Given the description of an element on the screen output the (x, y) to click on. 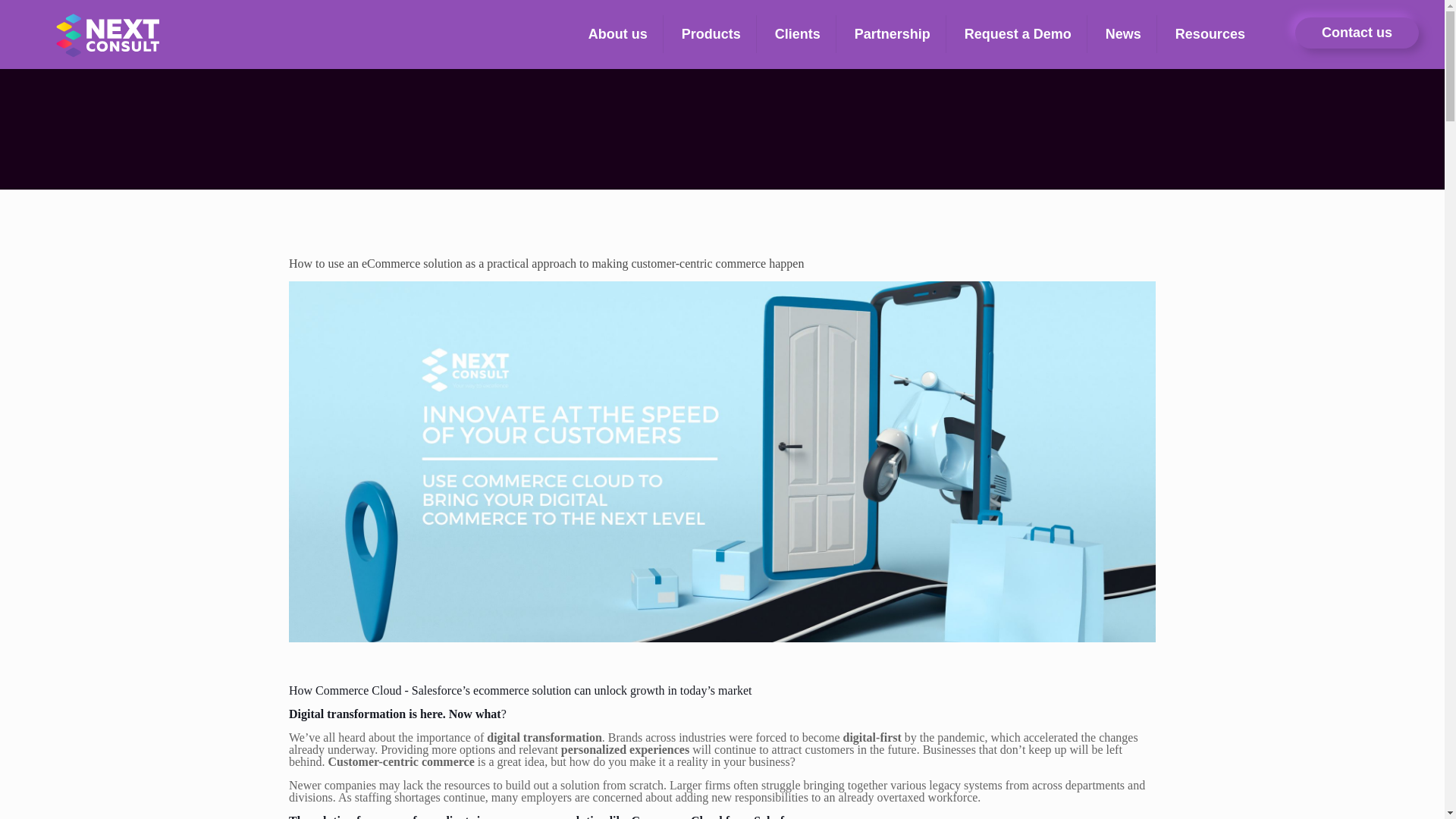
Partnership (893, 34)
Resources (1210, 34)
Request a Demo (1018, 34)
Clients (797, 34)
About us (618, 34)
Contact us (1356, 32)
Products (711, 34)
News (1123, 34)
